Given the description of an element on the screen output the (x, y) to click on. 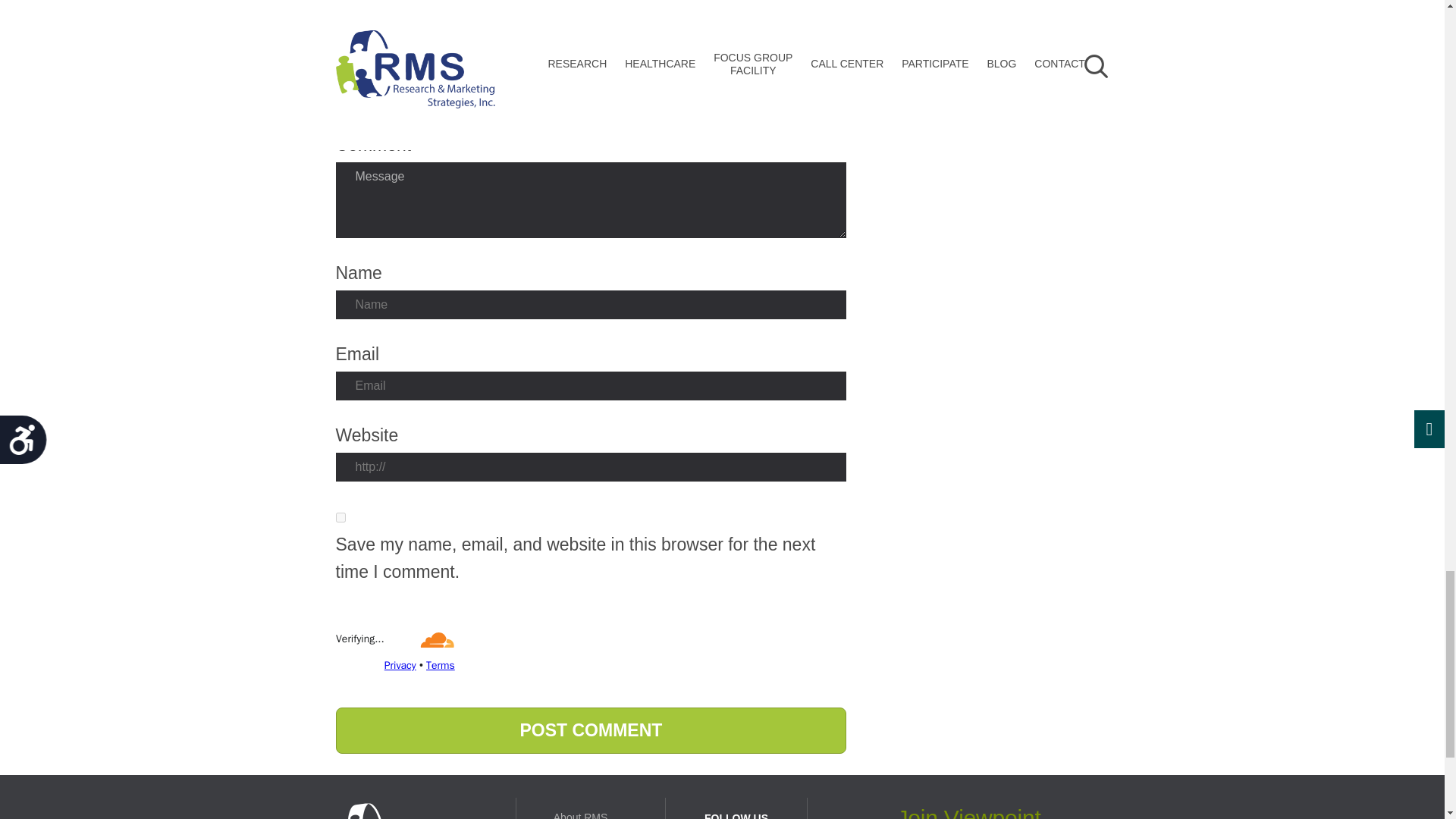
Post Comment (589, 730)
yes (339, 517)
Post Comment (589, 730)
